Given the description of an element on the screen output the (x, y) to click on. 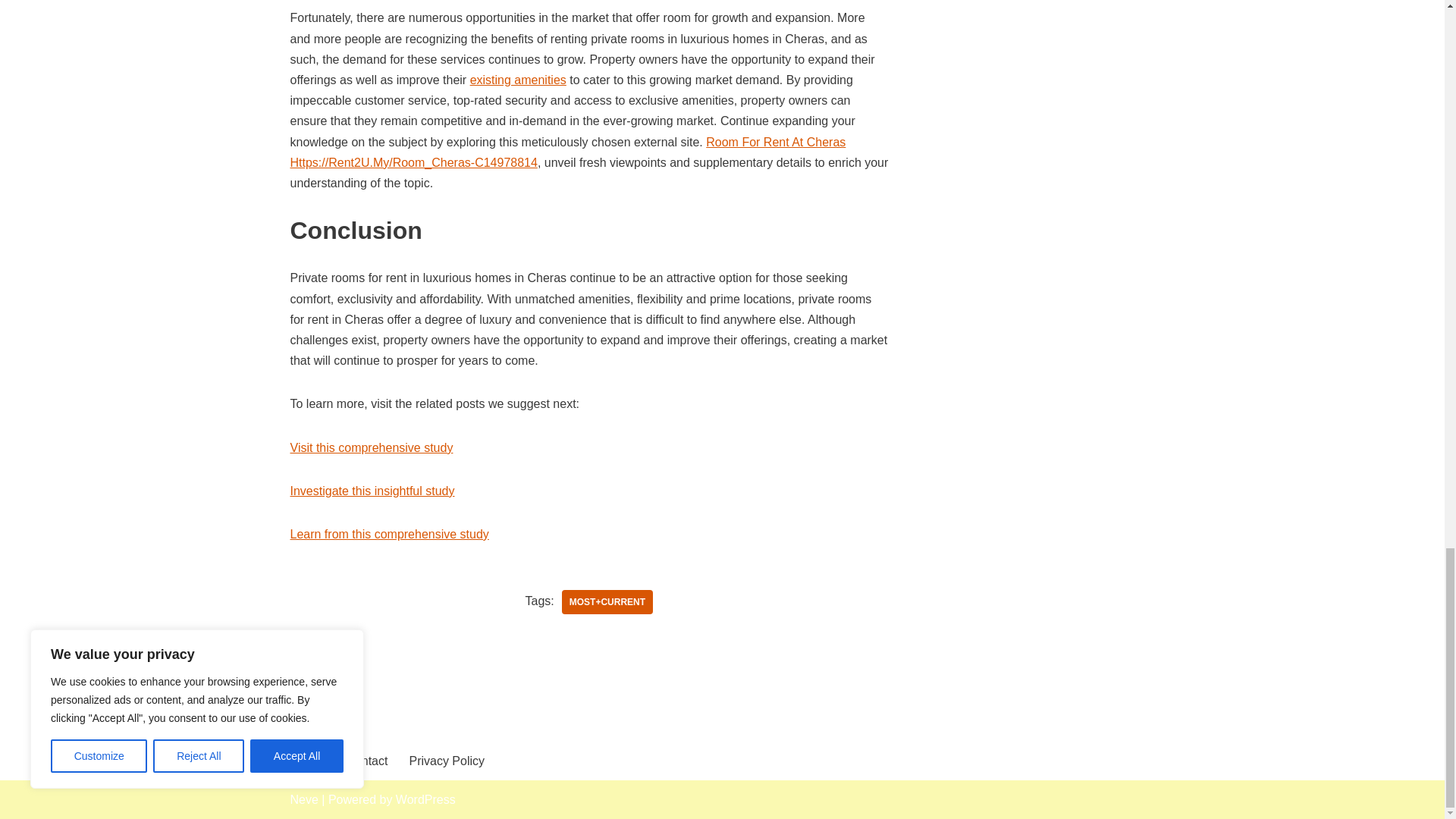
Learn from this comprehensive study (388, 533)
Visit this comprehensive study (370, 447)
existing amenities (518, 79)
Investigate this insightful study (371, 490)
